Given the description of an element on the screen output the (x, y) to click on. 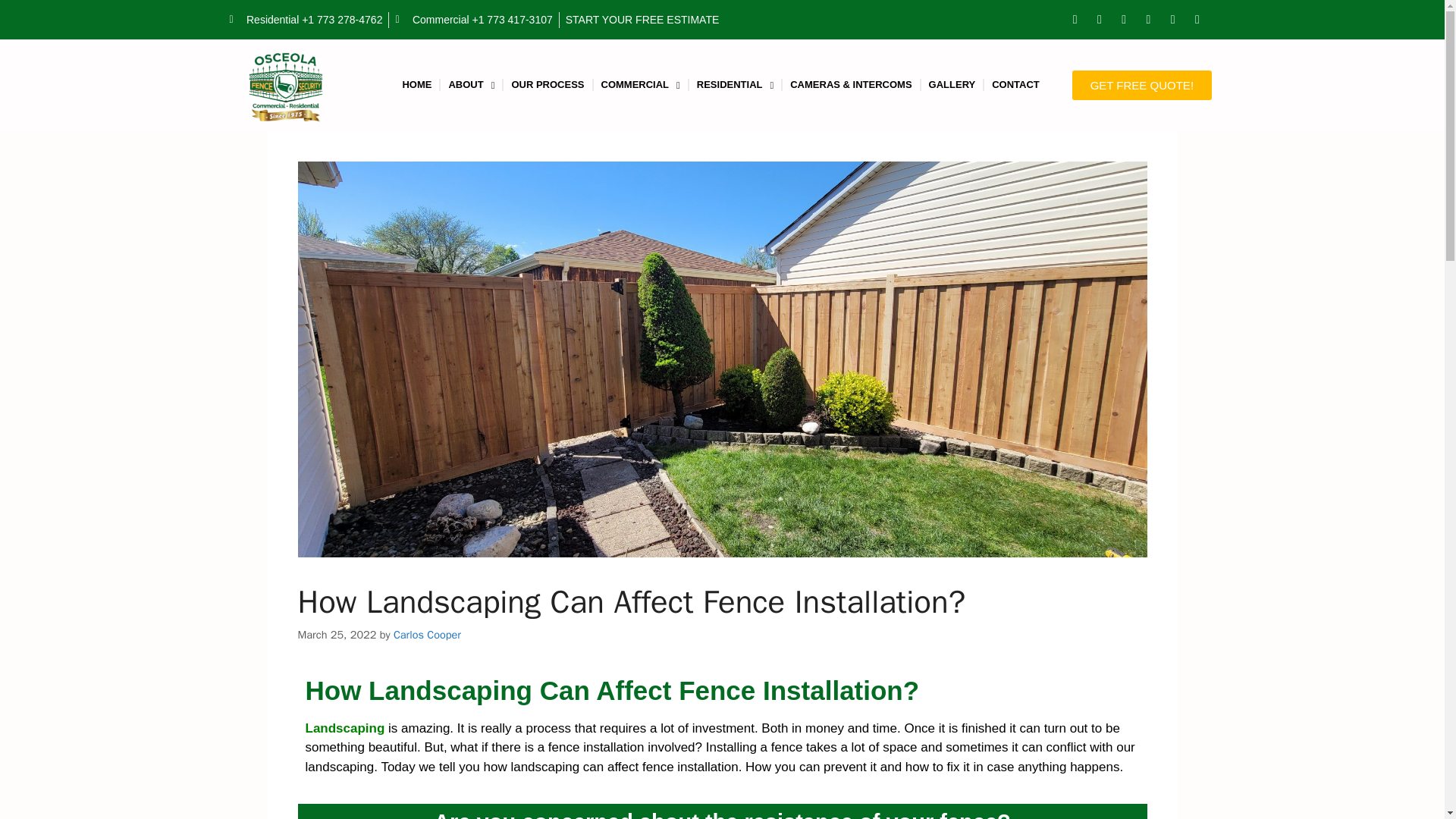
HOME (417, 84)
ABOUT (471, 84)
START YOUR FREE ESTIMATE (642, 19)
RESIDENTIAL (734, 84)
View all posts by Carlos Cooper (427, 634)
COMMERCIAL (640, 84)
OUR PROCESS (547, 84)
